Given the description of an element on the screen output the (x, y) to click on. 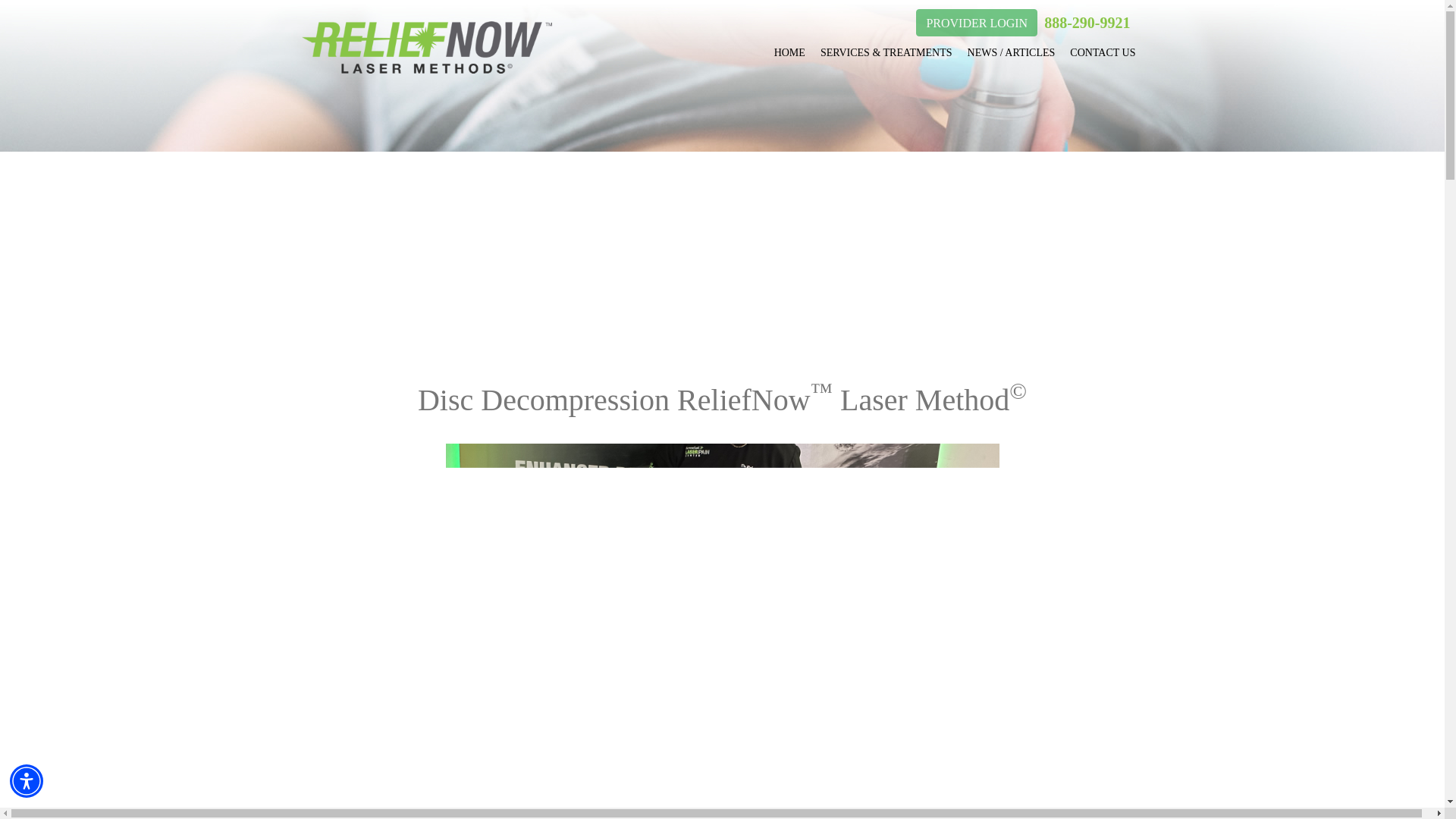
PROVIDER LOGIN (978, 22)
888-290-9921 (1086, 22)
CONTACT US (1102, 52)
Accessibility Menu (26, 780)
HOME (789, 52)
PROVIDER LOGIN (975, 22)
